Given the description of an element on the screen output the (x, y) to click on. 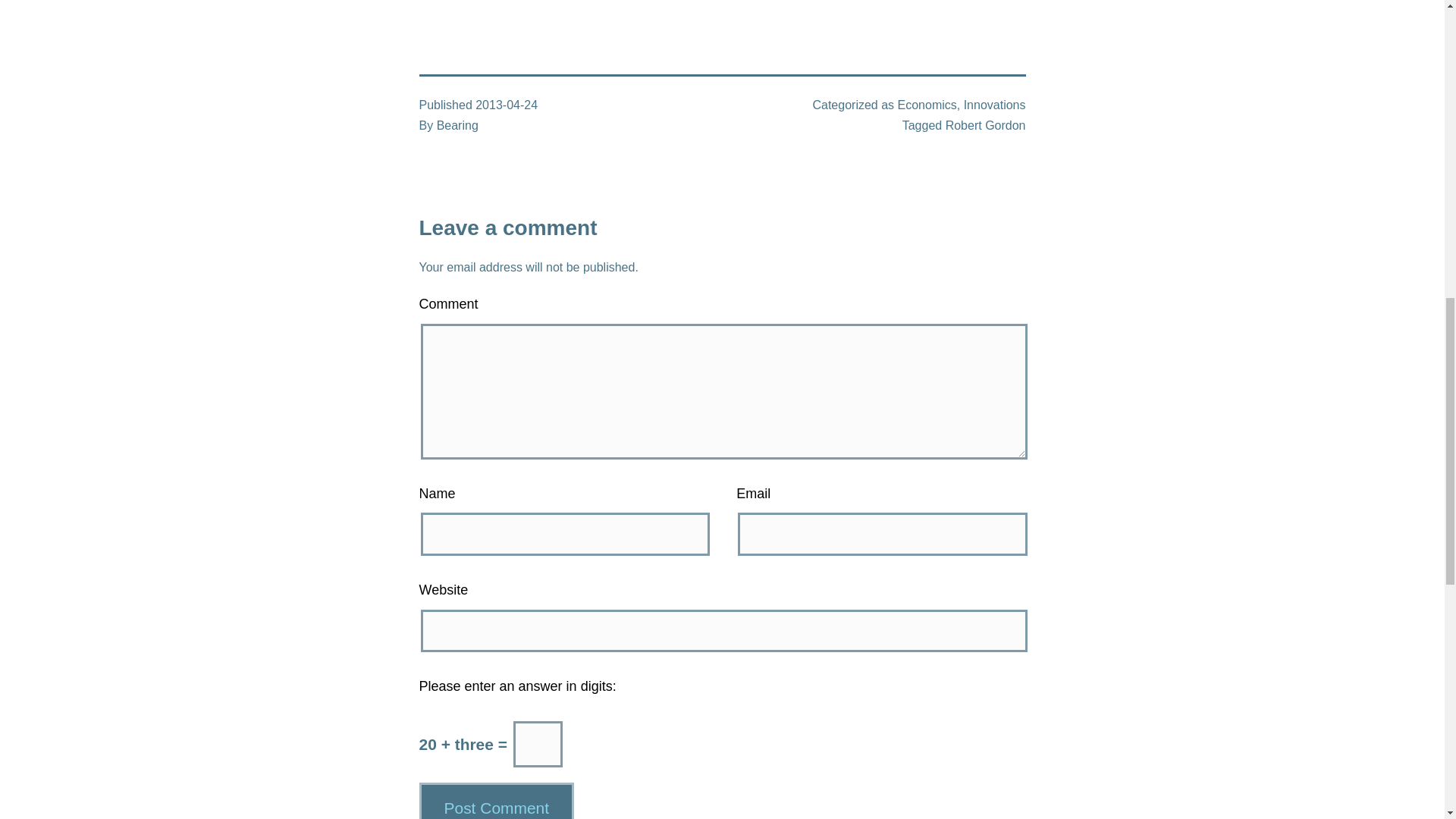
Economics (927, 104)
Robert Gordon (985, 124)
Post Comment (496, 800)
Post Comment (496, 800)
Bearing (457, 124)
Innovations (994, 104)
